Given the description of an element on the screen output the (x, y) to click on. 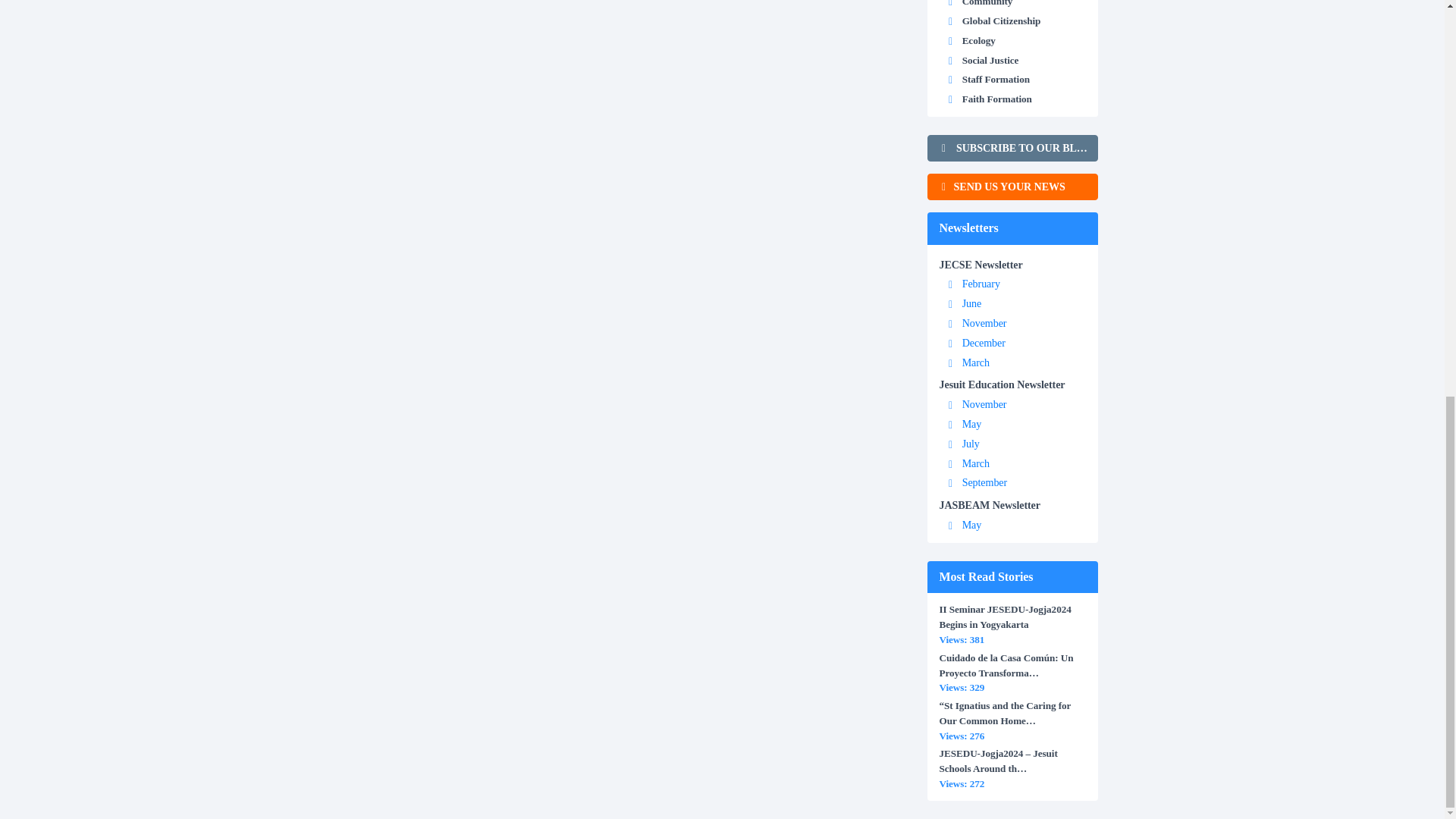
Community (987, 3)
Global Citizenship (1001, 20)
Staff Formation (995, 79)
SEND US YOUR NEWS (1011, 186)
Ecology (978, 40)
Faith Formation (997, 98)
SUBSCRIBE TO OUR BLOG (1011, 148)
Social Justice (990, 59)
